Given the description of an element on the screen output the (x, y) to click on. 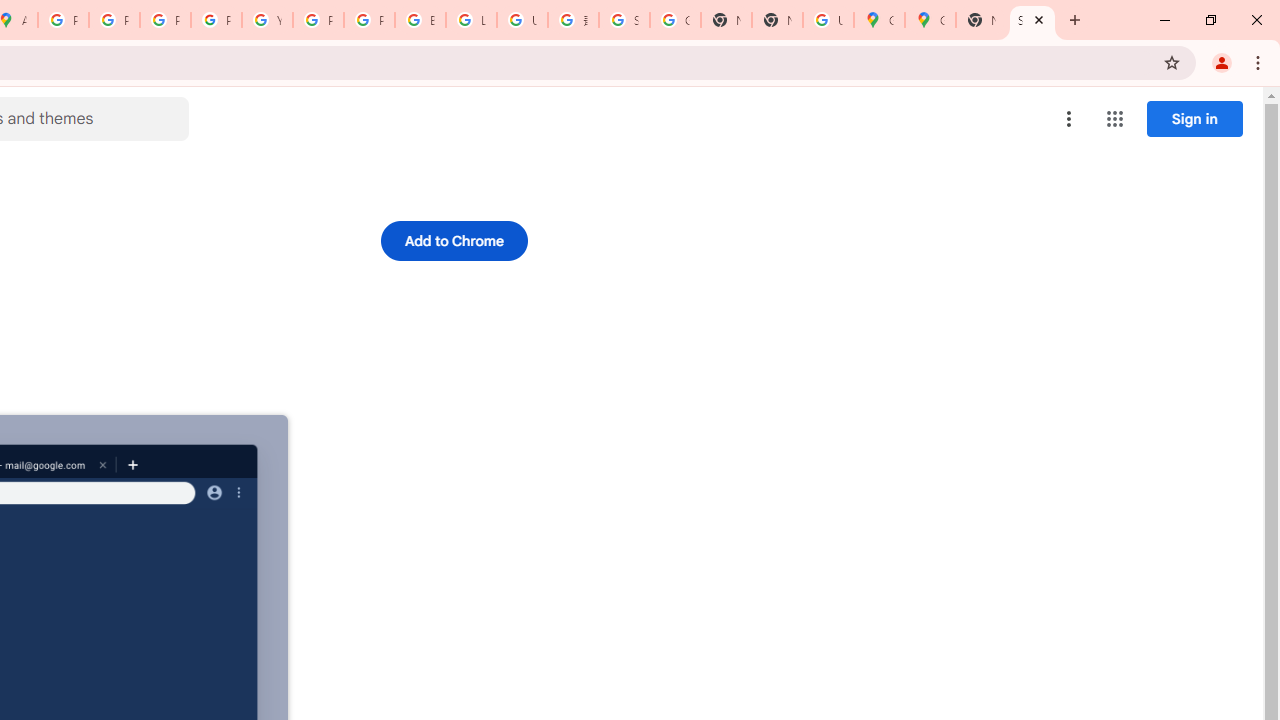
Google Maps (930, 20)
Google Maps (878, 20)
New Tab (776, 20)
New Tab (981, 20)
Policy Accountability and Transparency - Transparency Center (63, 20)
Sign in - Google Accounts (624, 20)
YouTube (267, 20)
